Given the description of an element on the screen output the (x, y) to click on. 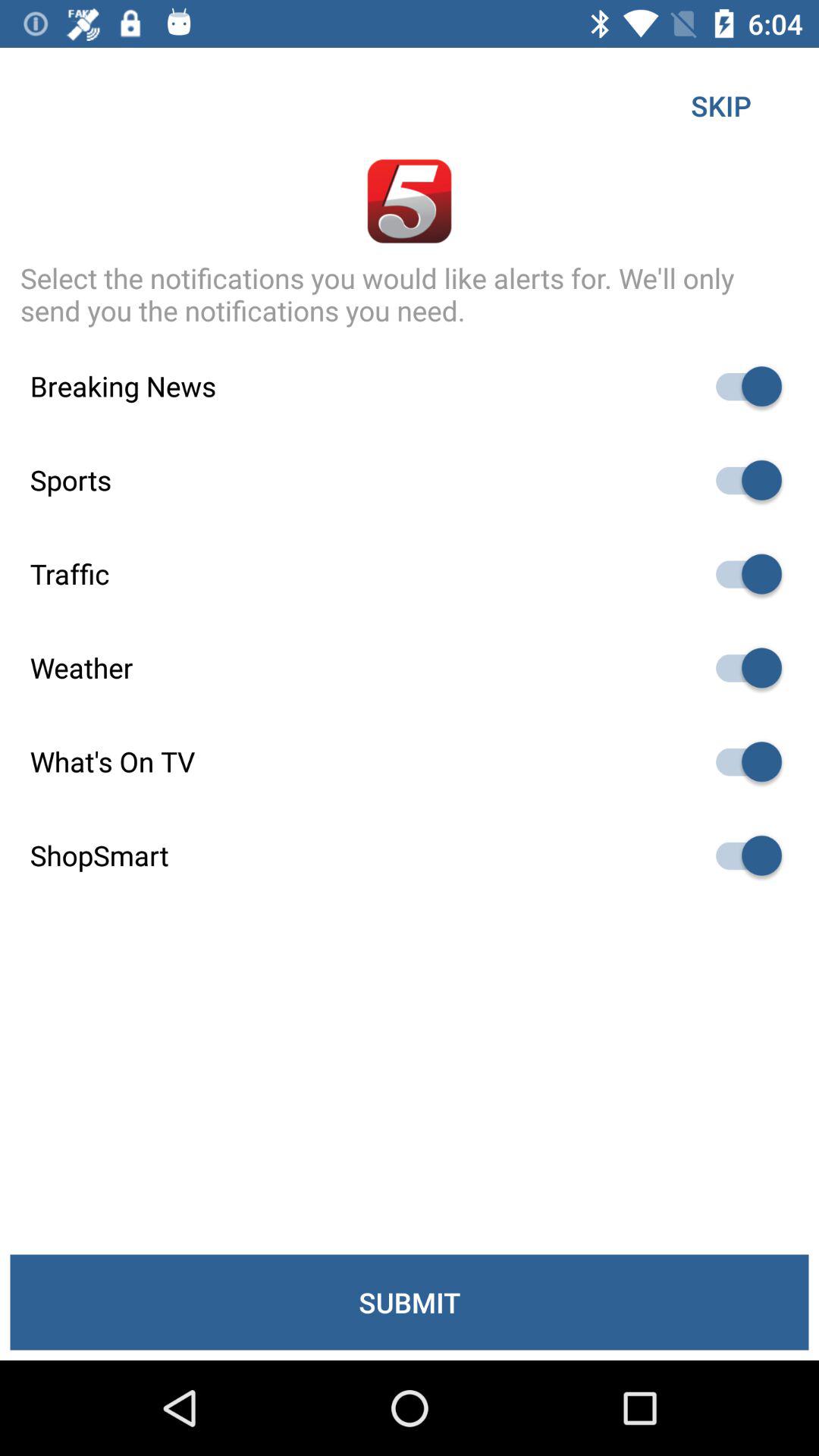
press option 5 down (741, 761)
